Given the description of an element on the screen output the (x, y) to click on. 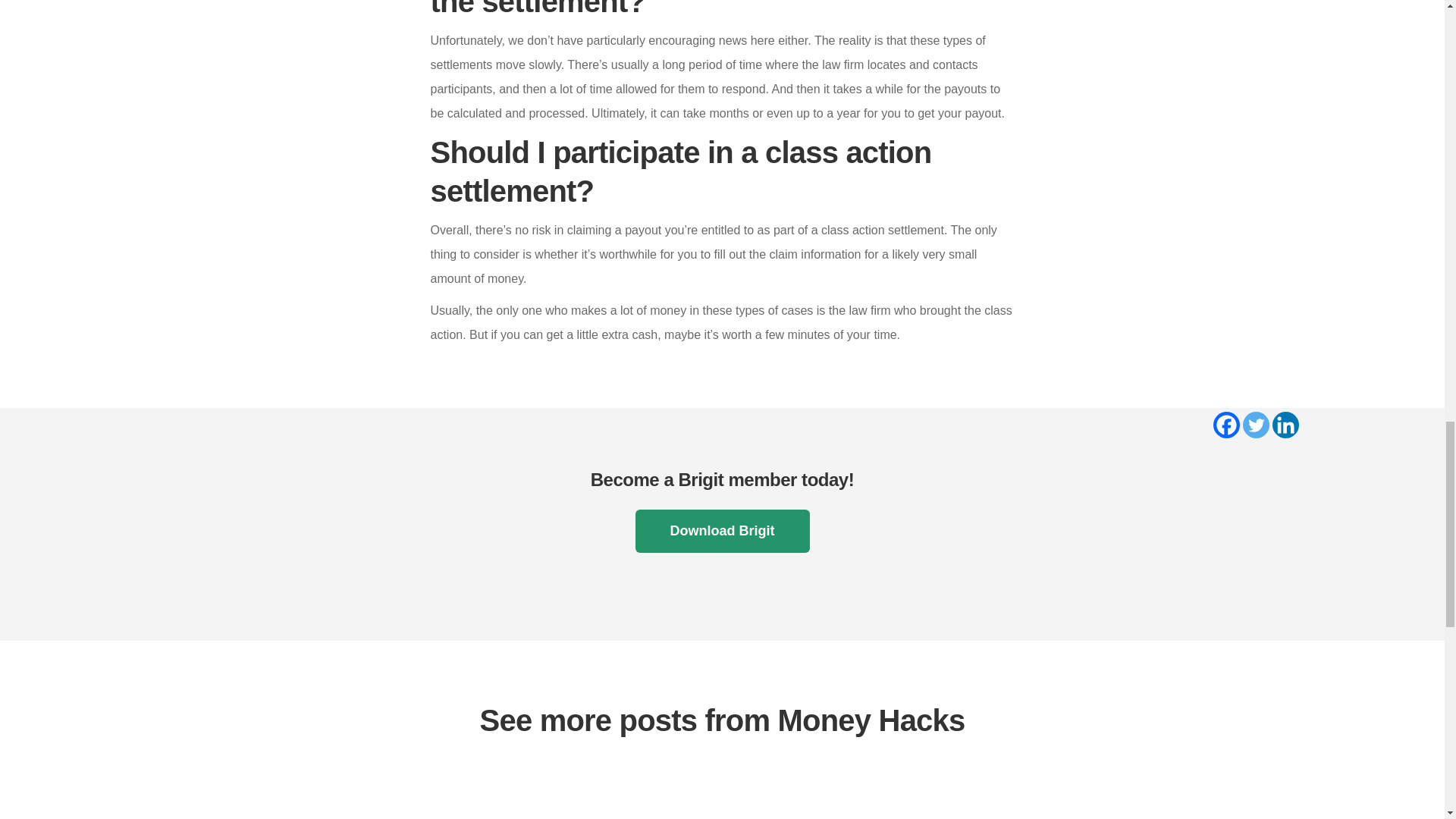
Download Brigit (721, 530)
